Given the description of an element on the screen output the (x, y) to click on. 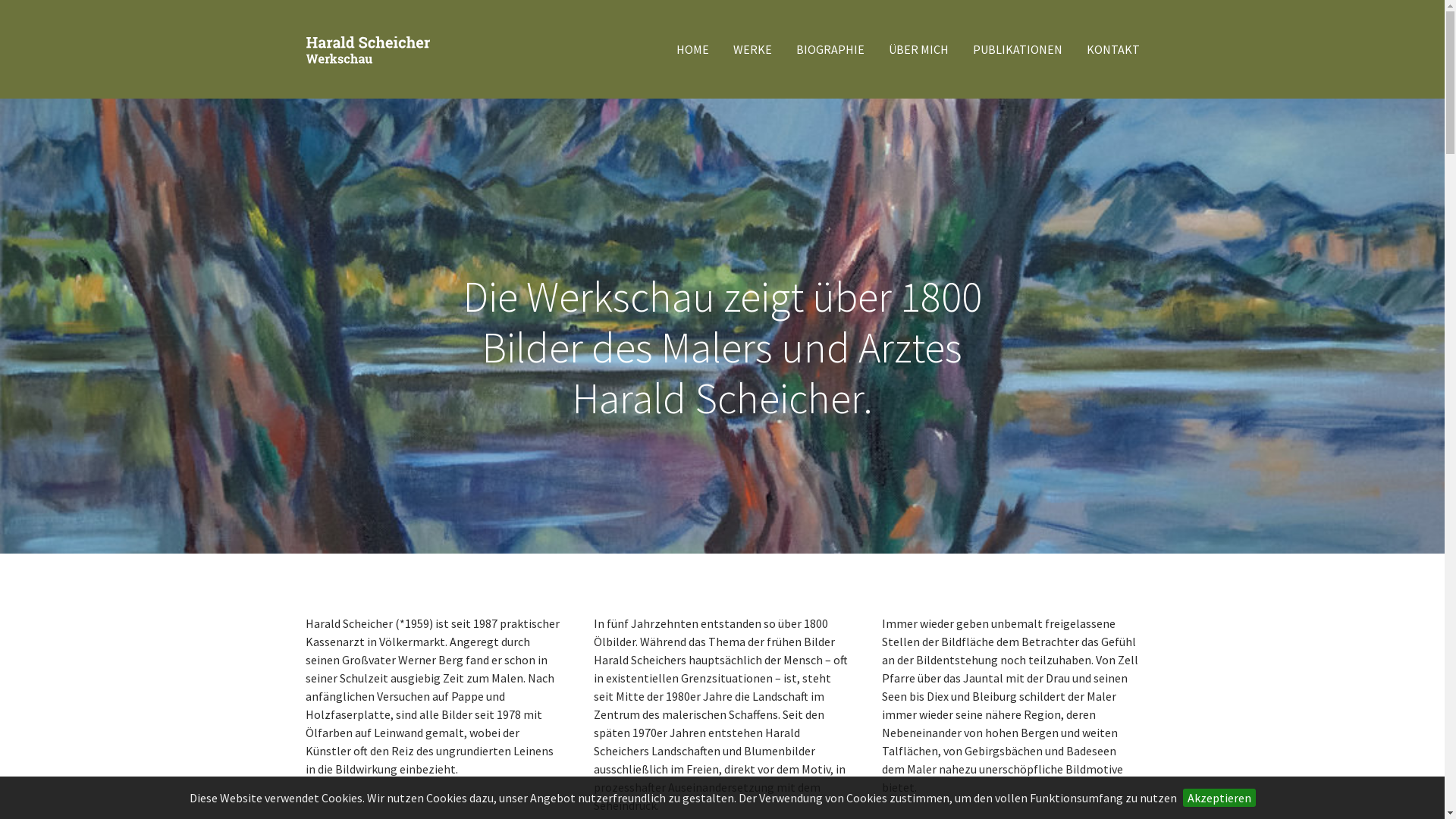
BIOGRAPHIE Element type: text (830, 49)
Akzeptieren Element type: text (1219, 797)
KONTAKT Element type: text (1112, 49)
HOME Element type: text (692, 49)
PUBLIKATIONEN Element type: text (1016, 49)
WERKE Element type: text (751, 49)
